Given the description of an element on the screen output the (x, y) to click on. 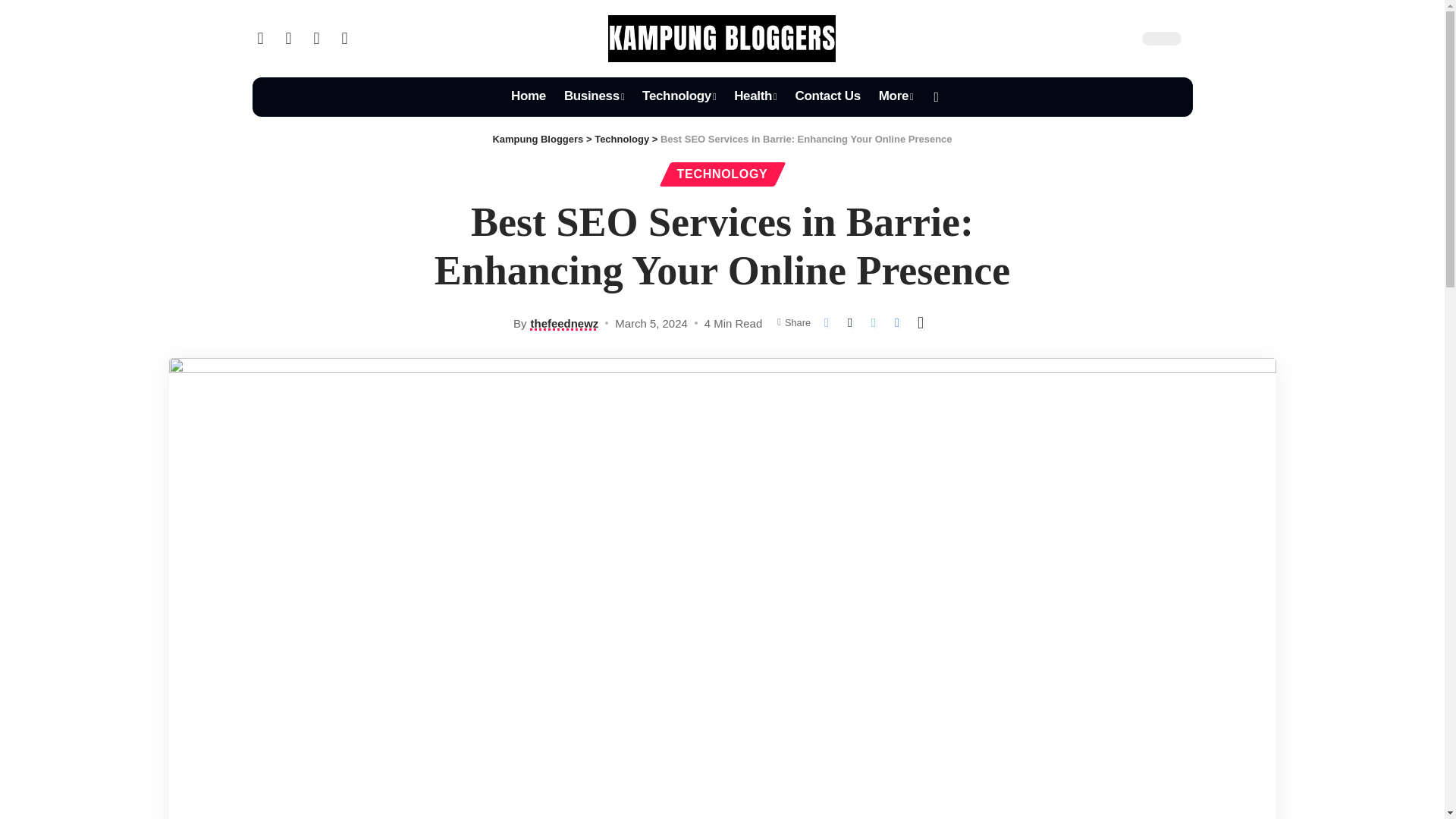
Technology (679, 96)
Business (593, 96)
Health (755, 96)
Home (528, 96)
